Given the description of an element on the screen output the (x, y) to click on. 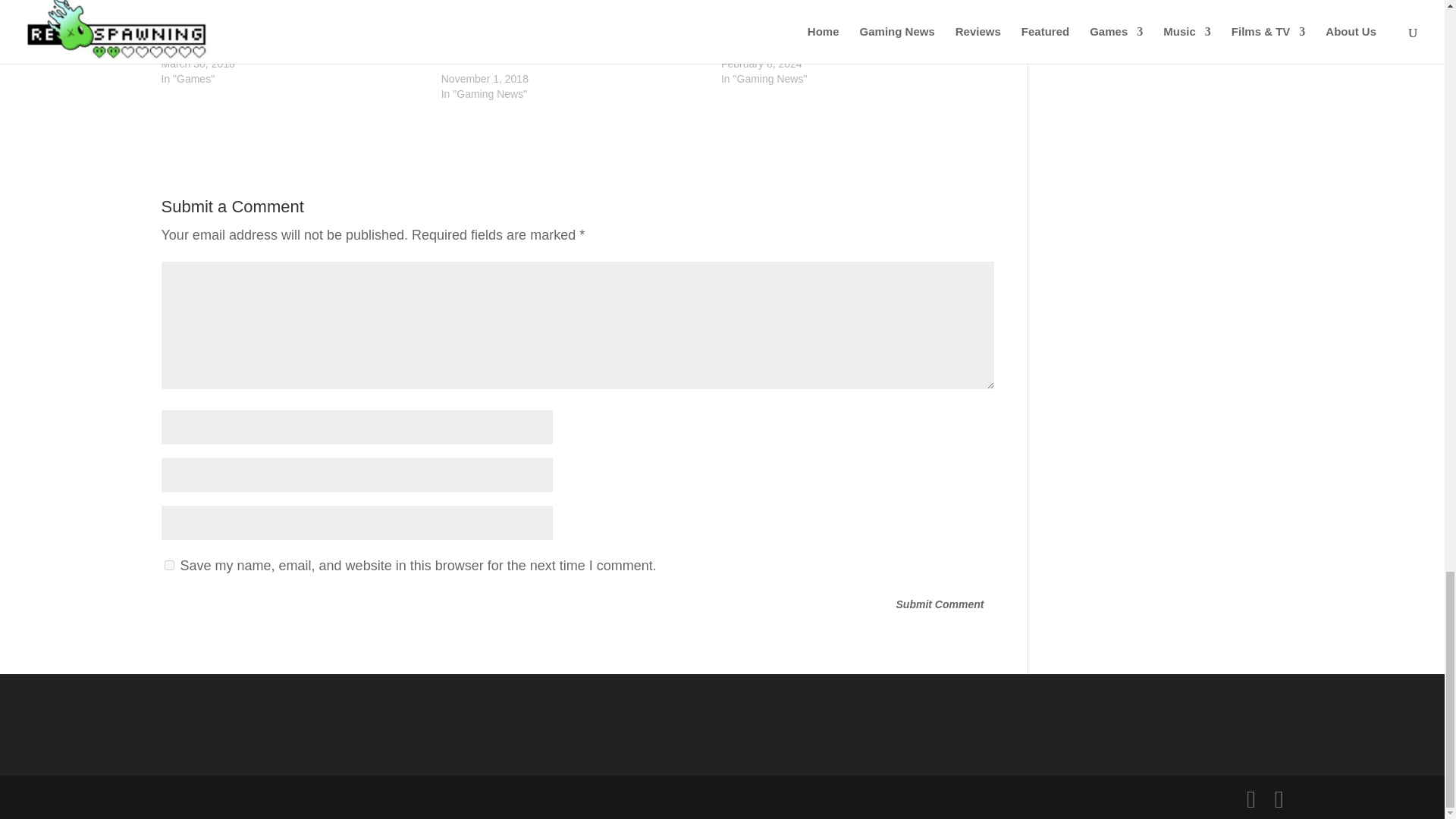
Spec Ops: The Line is currently free on Humble Bundle! (291, 40)
Spec Ops: The Line is currently free on Humble Bundle! (292, 17)
yes (168, 565)
Submit Comment (939, 604)
